Given the description of an element on the screen output the (x, y) to click on. 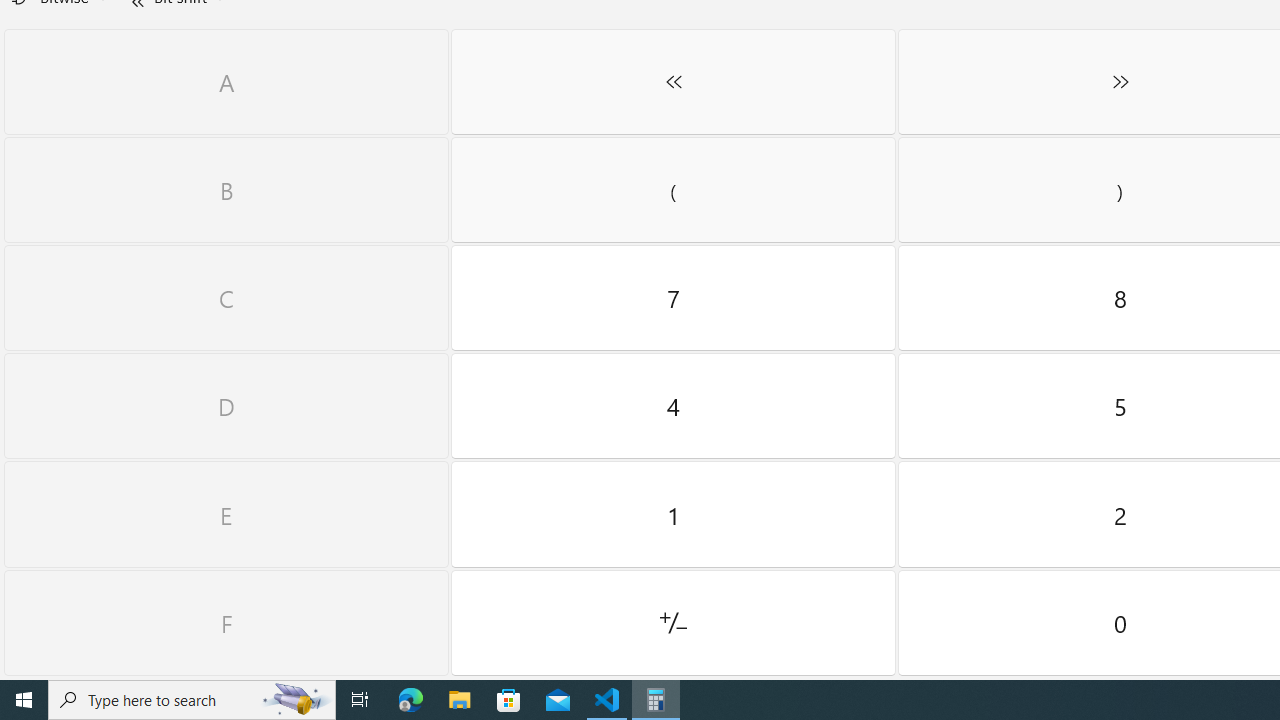
E (226, 514)
Microsoft Store (509, 699)
Start (24, 699)
File Explorer (460, 699)
B (226, 189)
Positive negative (673, 623)
Type here to search (191, 699)
Four (673, 405)
Microsoft Edge (411, 699)
Calculator - 1 running window (656, 699)
One (673, 514)
C (226, 297)
Left parenthesis (673, 189)
Visual Studio Code - 1 running window (607, 699)
